Given the description of an element on the screen output the (x, y) to click on. 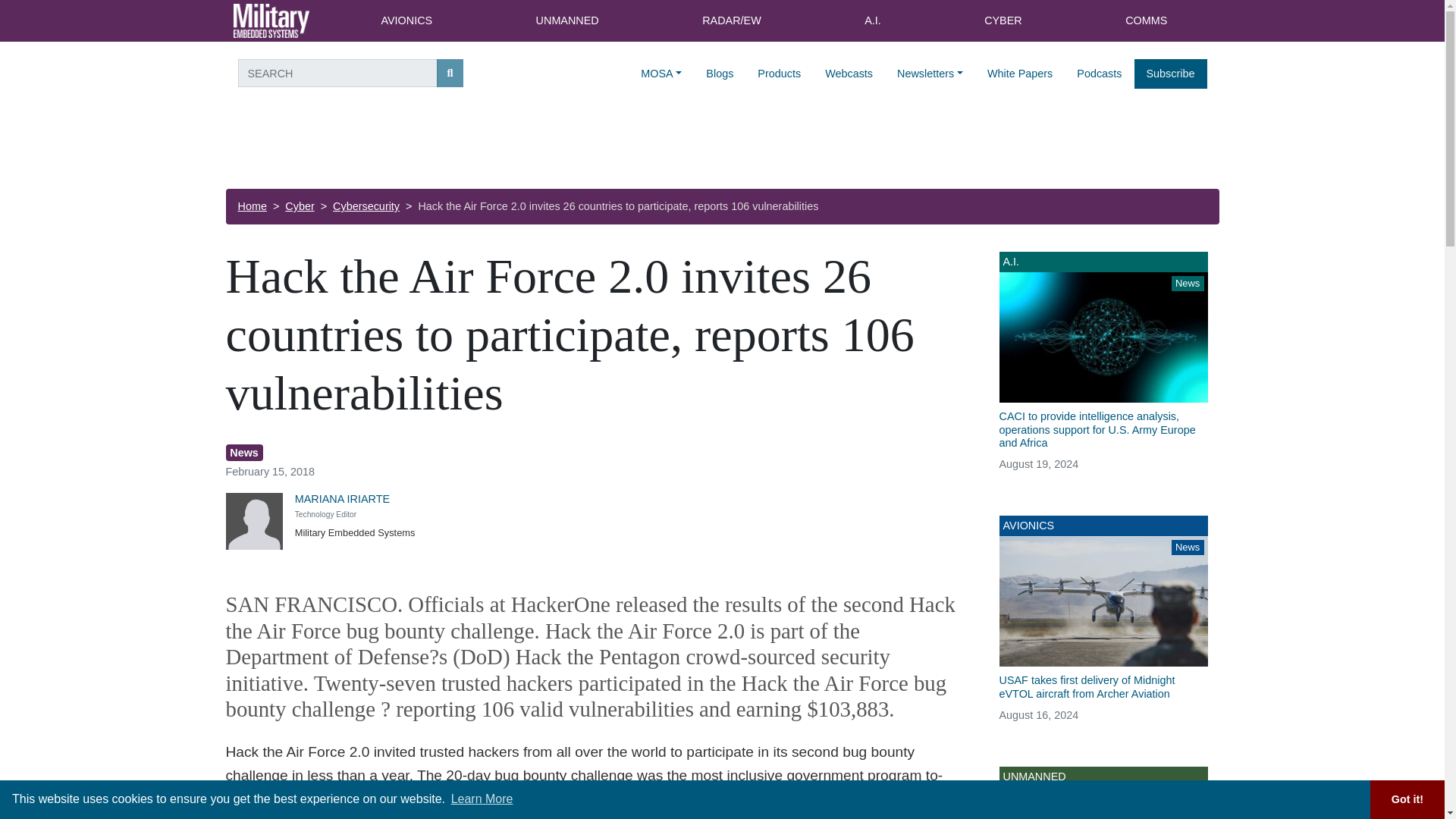
3rd party ad content (721, 146)
AVIONICS (406, 20)
COMMS (1147, 20)
CYBER (1003, 20)
Learn More (481, 798)
UNMANNED (566, 20)
A.I. (872, 20)
